Given the description of an element on the screen output the (x, y) to click on. 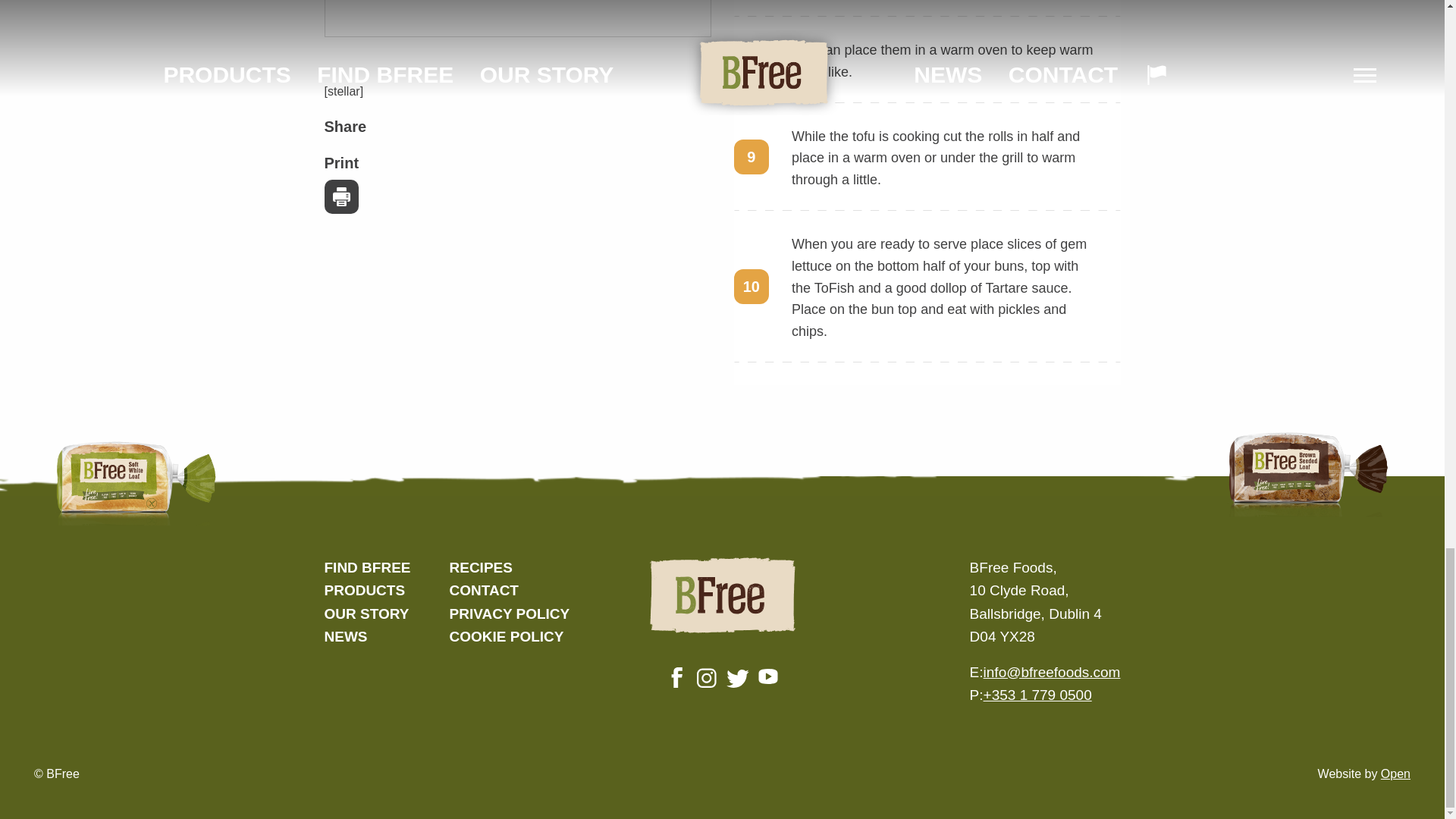
OUR STORY (366, 613)
PRODUCTS (365, 590)
Open (1395, 773)
RECIPES (480, 567)
NEWS (346, 636)
COOKIE POLICY (505, 636)
PRIVACY POLICY (508, 613)
CONTACT (483, 590)
FIND BFREE (367, 567)
